Given the description of an element on the screen output the (x, y) to click on. 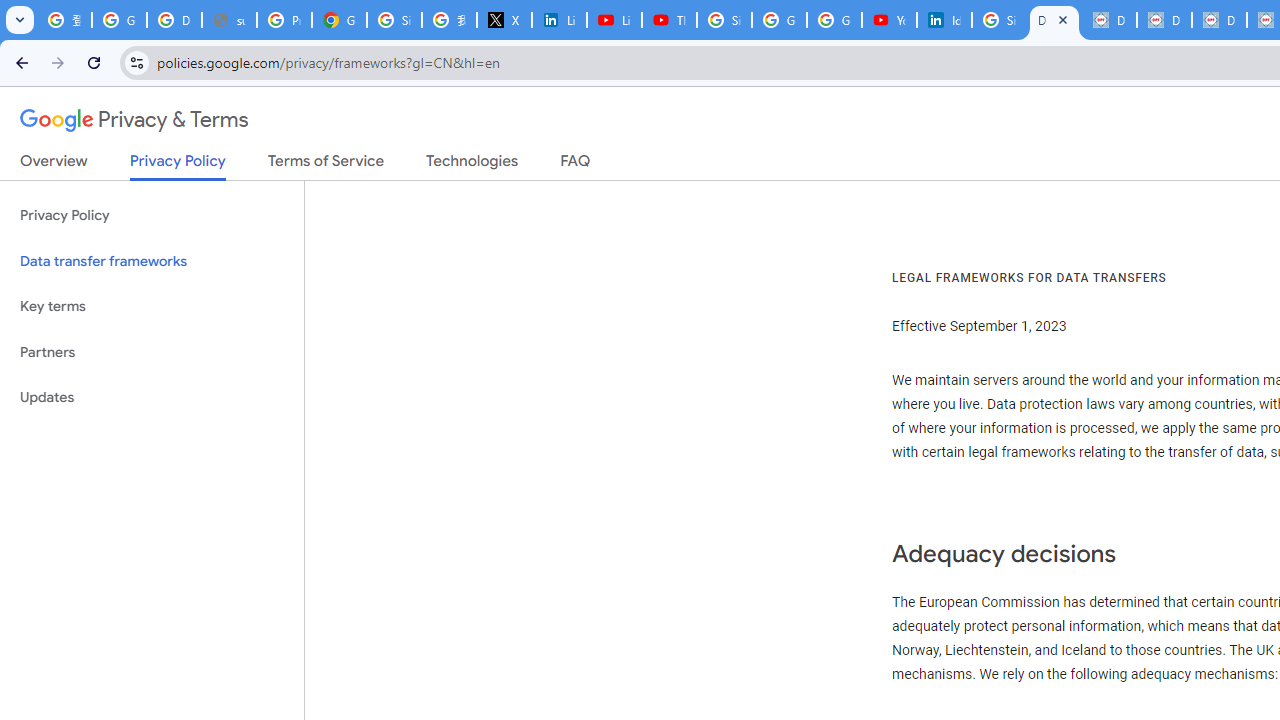
Data Privacy Framework (1108, 20)
support.google.com - Network error (229, 20)
Privacy Help Center - Policies Help (284, 20)
